Given the description of an element on the screen output the (x, y) to click on. 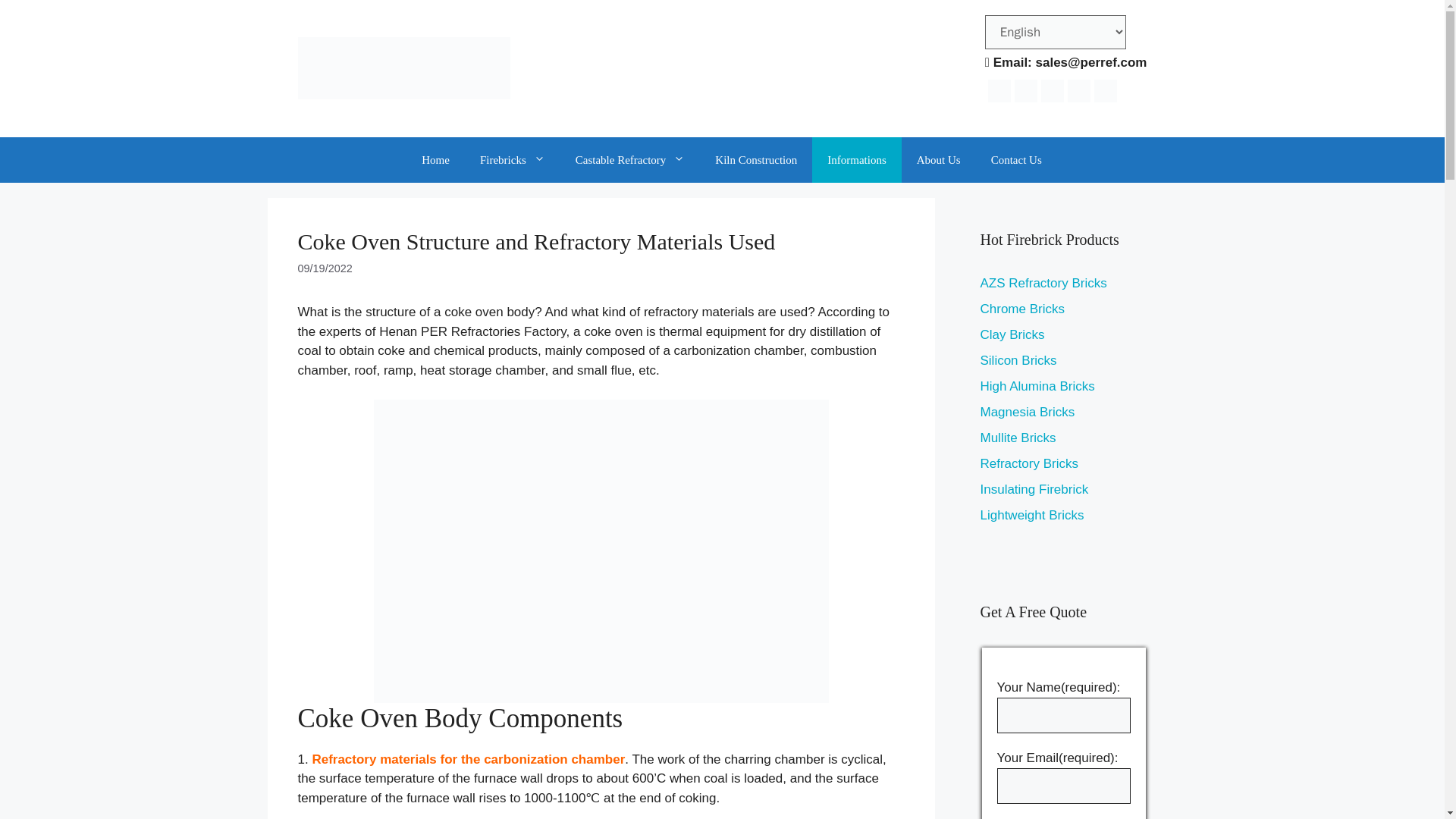
Facebook (1025, 89)
LinkedIn (1105, 89)
Home (435, 158)
Castable Refractory (630, 158)
Firebricks (512, 158)
